Given the description of an element on the screen output the (x, y) to click on. 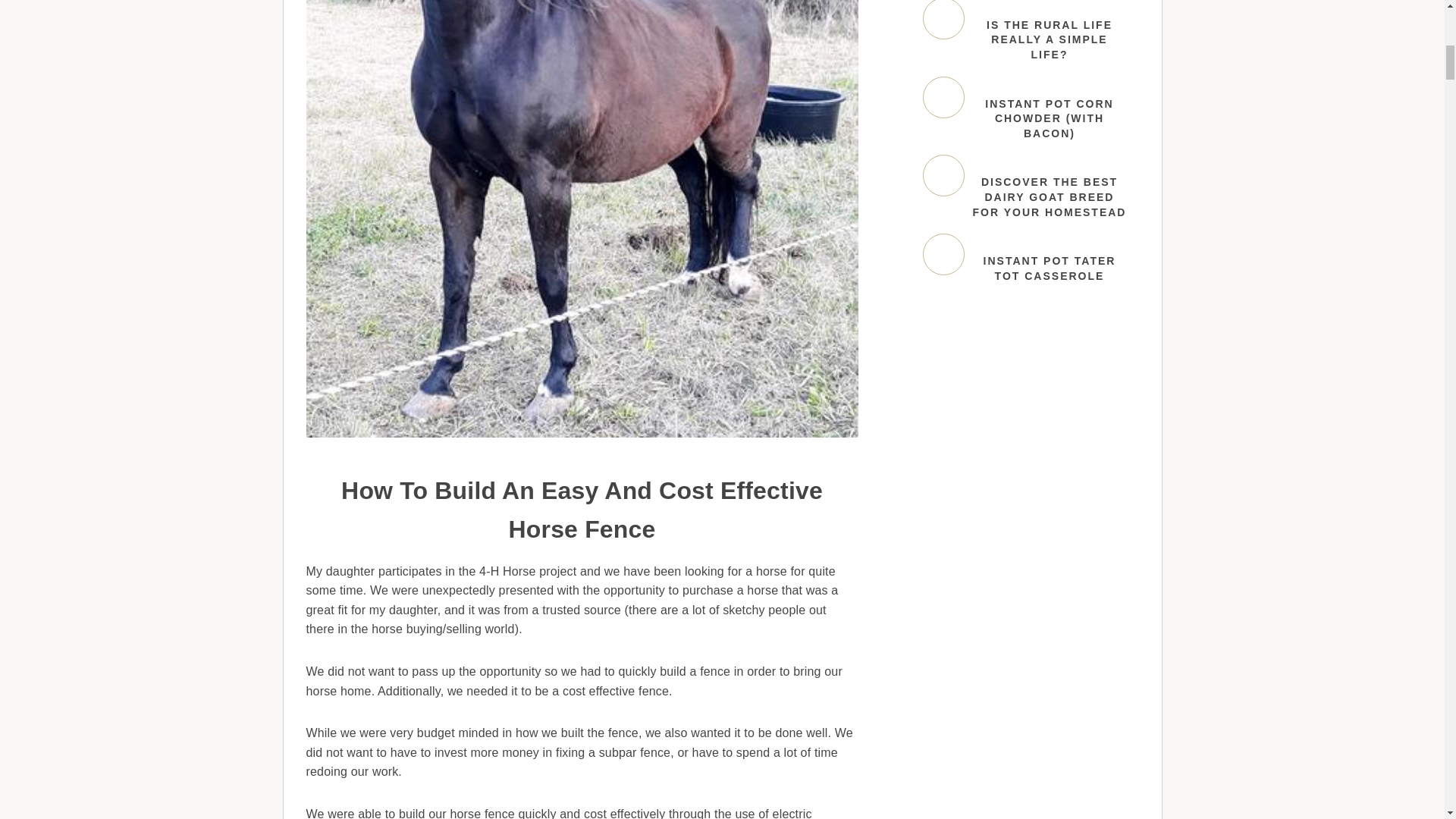
Discover the Best Dairy Goat Breed for Your Homestead (942, 175)
Instant Pot Tater Tot Casserole (942, 254)
Is the Rural Life Really a Simple Life? (942, 19)
